Given the description of an element on the screen output the (x, y) to click on. 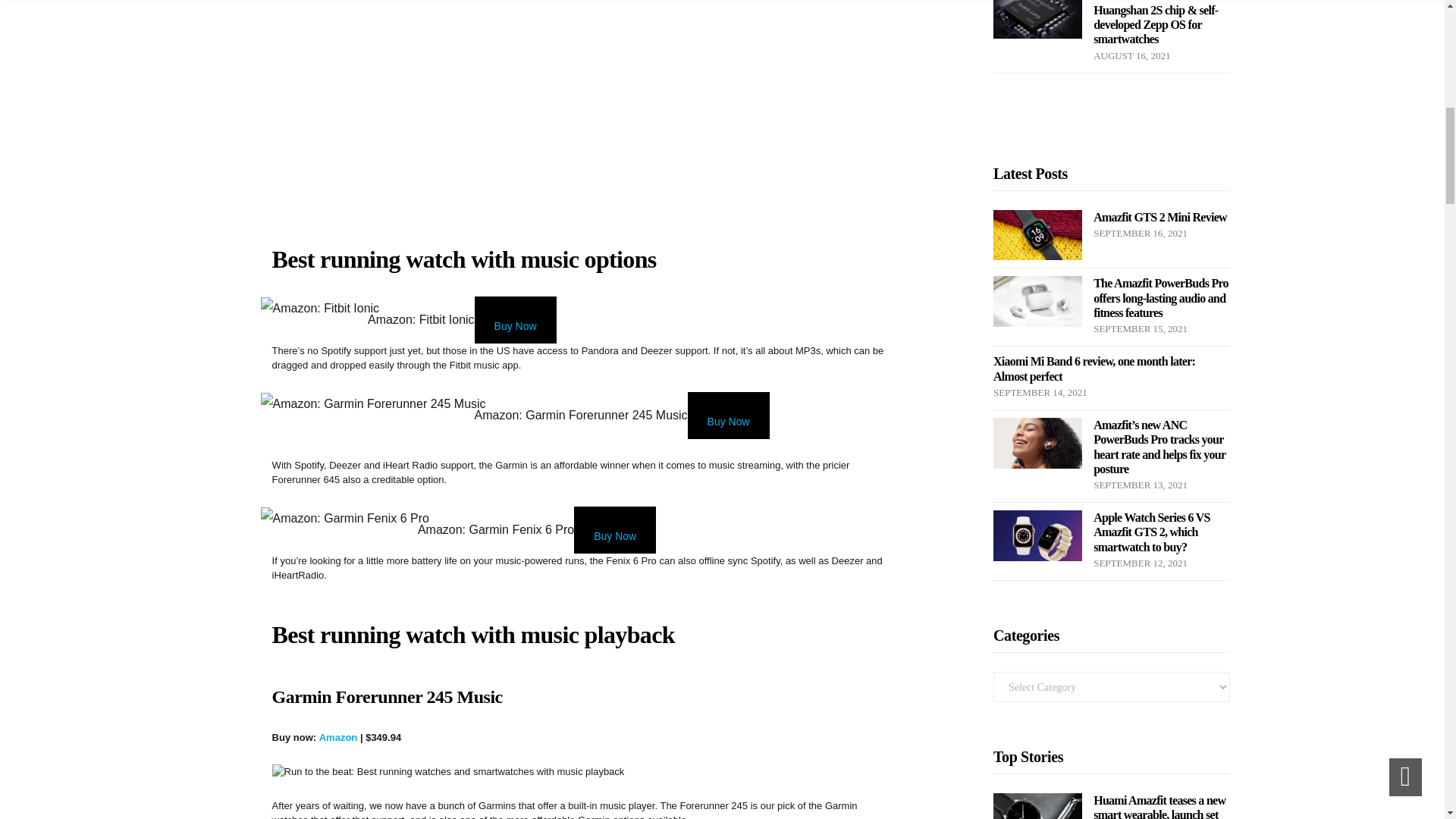
Buy Now (728, 415)
Buy Now (614, 529)
Amazon (338, 737)
Buy Now (515, 319)
